Given the description of an element on the screen output the (x, y) to click on. 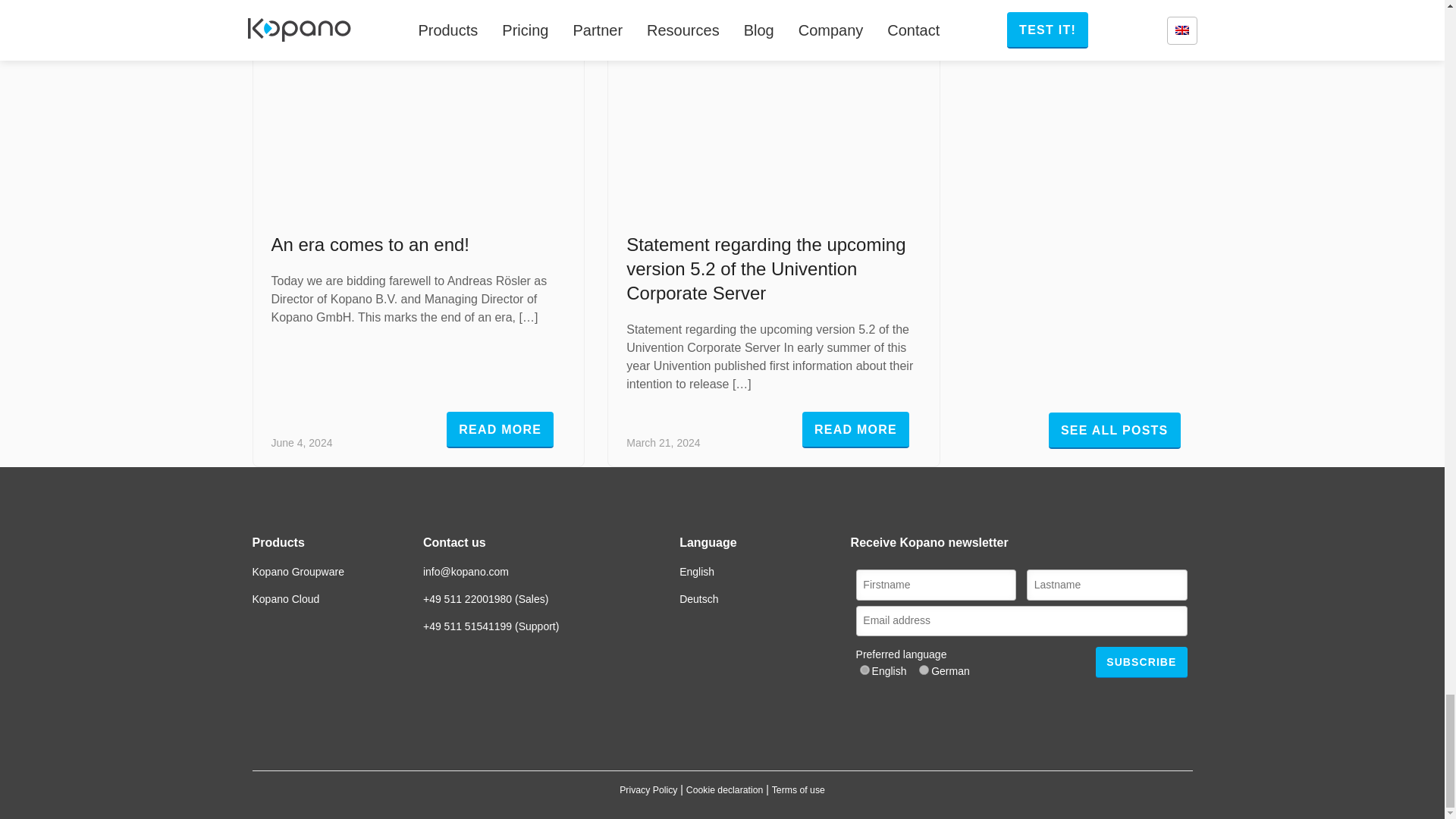
YouTube (717, 707)
LinkedIn (689, 707)
16384 (923, 669)
Subscribe (1141, 662)
32768 (864, 669)
Twitter (660, 707)
Facebook (746, 707)
